Given the description of an element on the screen output the (x, y) to click on. 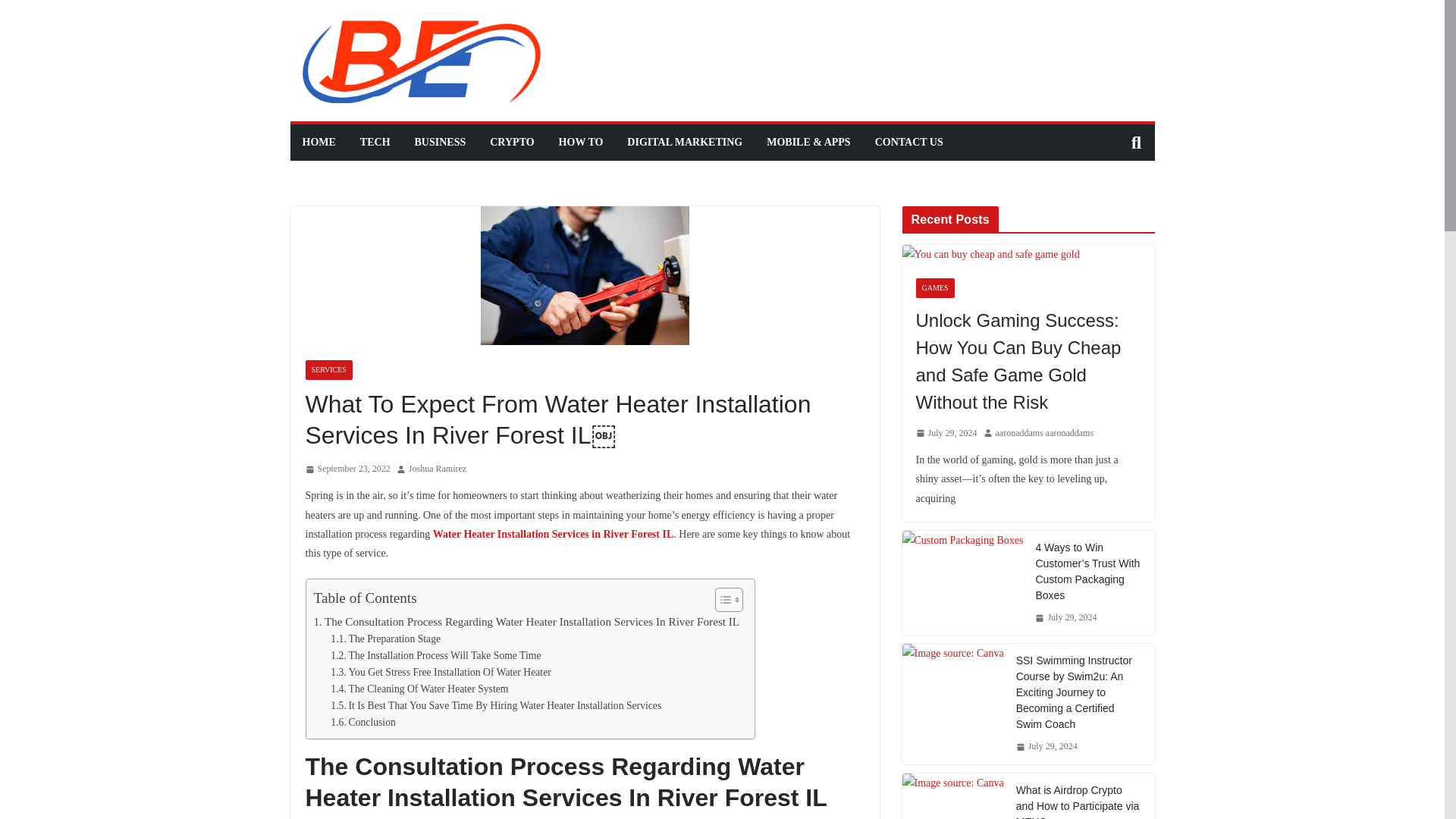
TECH (374, 142)
The Cleaning Of Water Heater System (419, 688)
Conclusion (363, 722)
The Cleaning Of Water Heater System (419, 688)
CRYPTO (511, 142)
CONTACT US (909, 142)
SERVICES (328, 370)
HOME (317, 142)
Conclusion (363, 722)
Joshua Ramirez (437, 469)
You Get Stress Free Installation Of Water Heater (440, 672)
September 23, 2022 (347, 469)
HOW TO (581, 142)
